Given the description of an element on the screen output the (x, y) to click on. 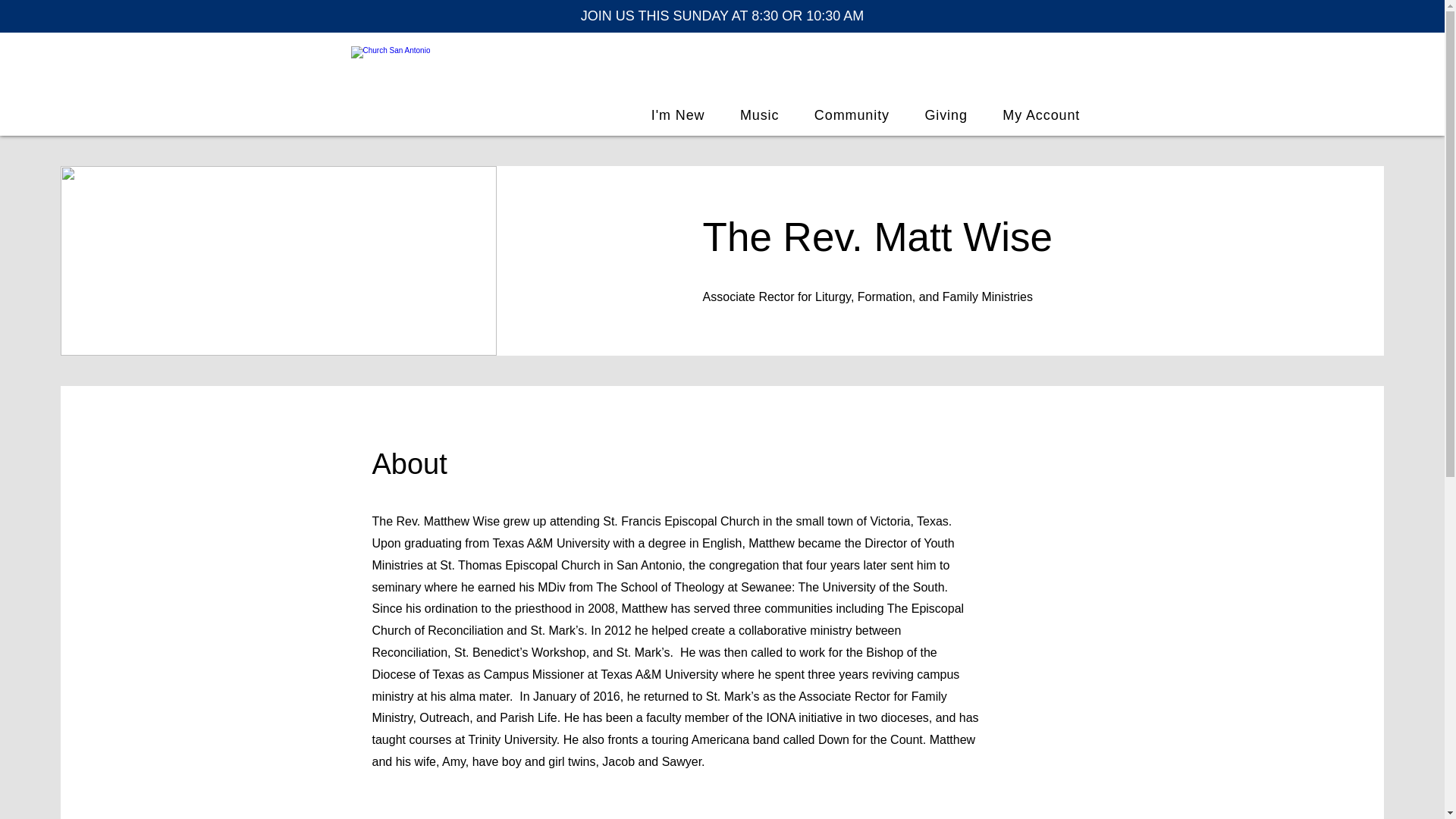
My Account (1040, 115)
Community (852, 115)
Music (759, 115)
I'm New (678, 115)
Giving (946, 115)
